Given the description of an element on the screen output the (x, y) to click on. 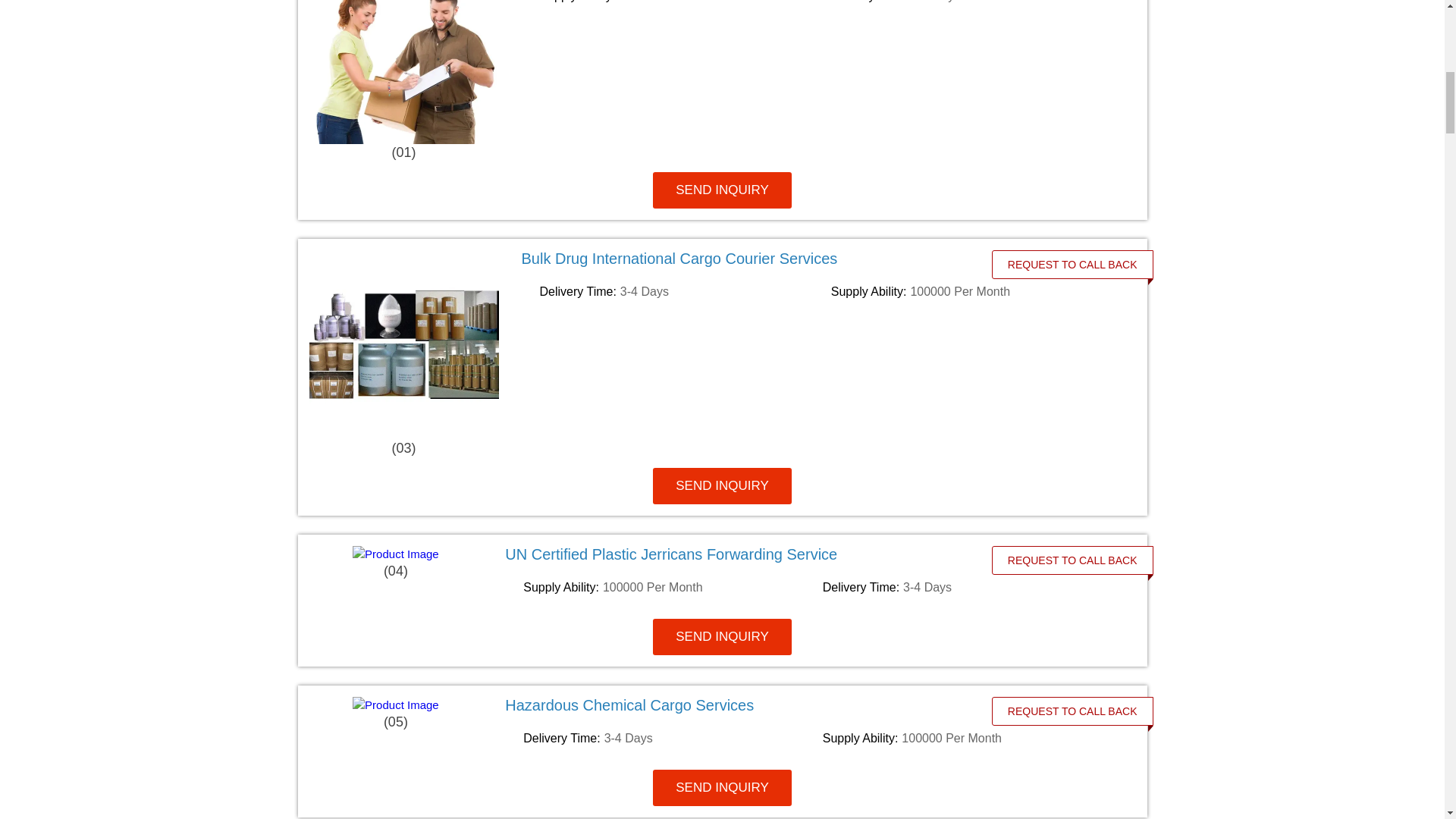
Supply Ability: 100000 Per Month (682, 2)
Bulk Drug International Cargo Courier Services (767, 258)
Supply Ability: 100000 Per Month (669, 587)
Delivery Time: 3-4 Days (969, 587)
Delivery Time: 3-4 Days (973, 2)
UN Certified Plastic Jerricans Forwarding Service (757, 554)
Supply Ability: 100000 Per Month (973, 291)
Hazardous Chemical Cargo Services (757, 704)
Delivery Time: 3-4 Days (682, 291)
Delivery Time: 3-4 Days (669, 738)
